Given the description of an element on the screen output the (x, y) to click on. 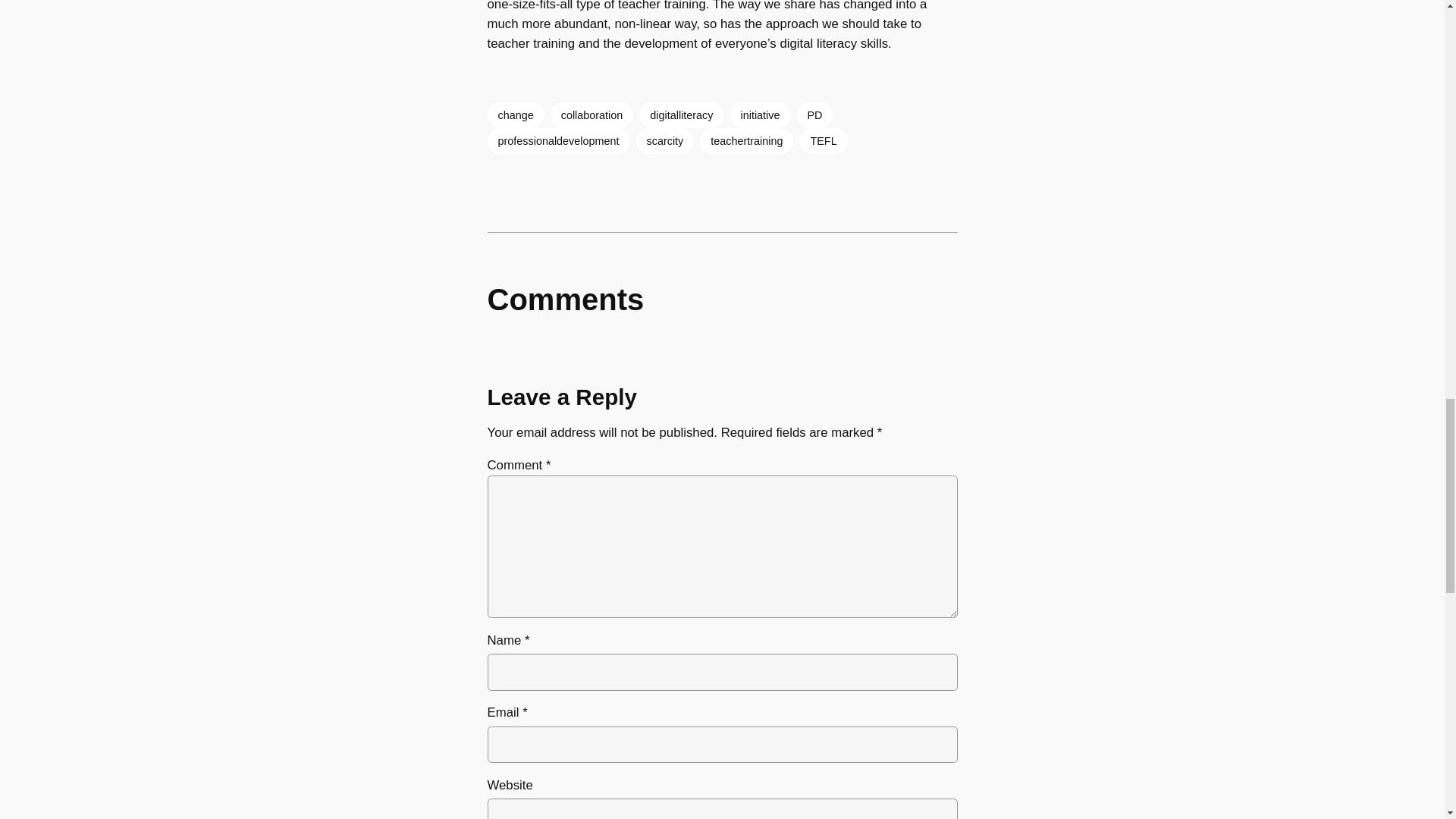
digitalliteracy (681, 114)
teachertraining (746, 140)
scarcity (664, 140)
professionaldevelopment (557, 140)
collaboration (591, 114)
TEFL (823, 140)
change (514, 114)
PD (814, 114)
initiative (760, 114)
